Given the description of an element on the screen output the (x, y) to click on. 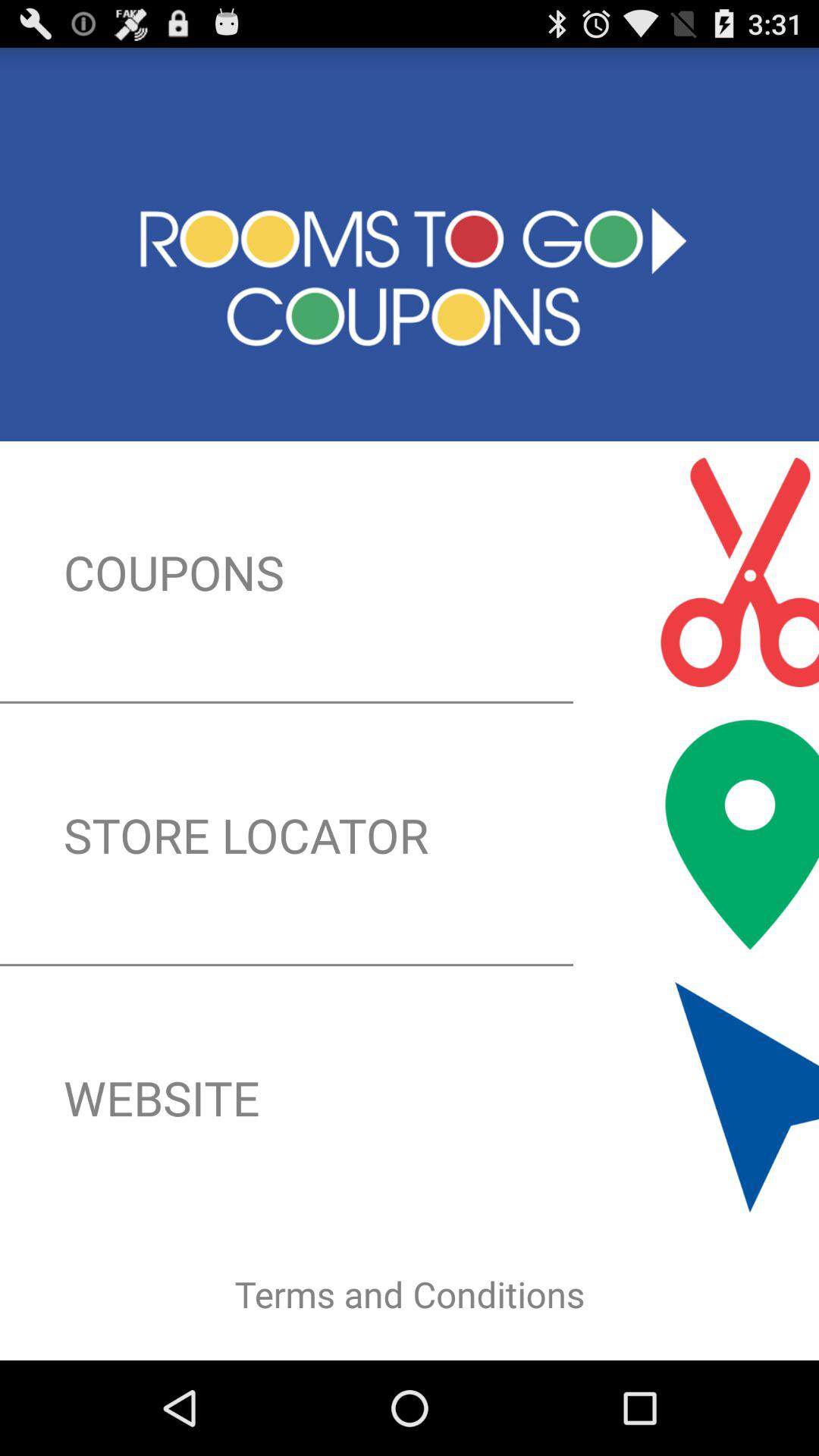
tap button above terms and conditions item (409, 1097)
